Given the description of an element on the screen output the (x, y) to click on. 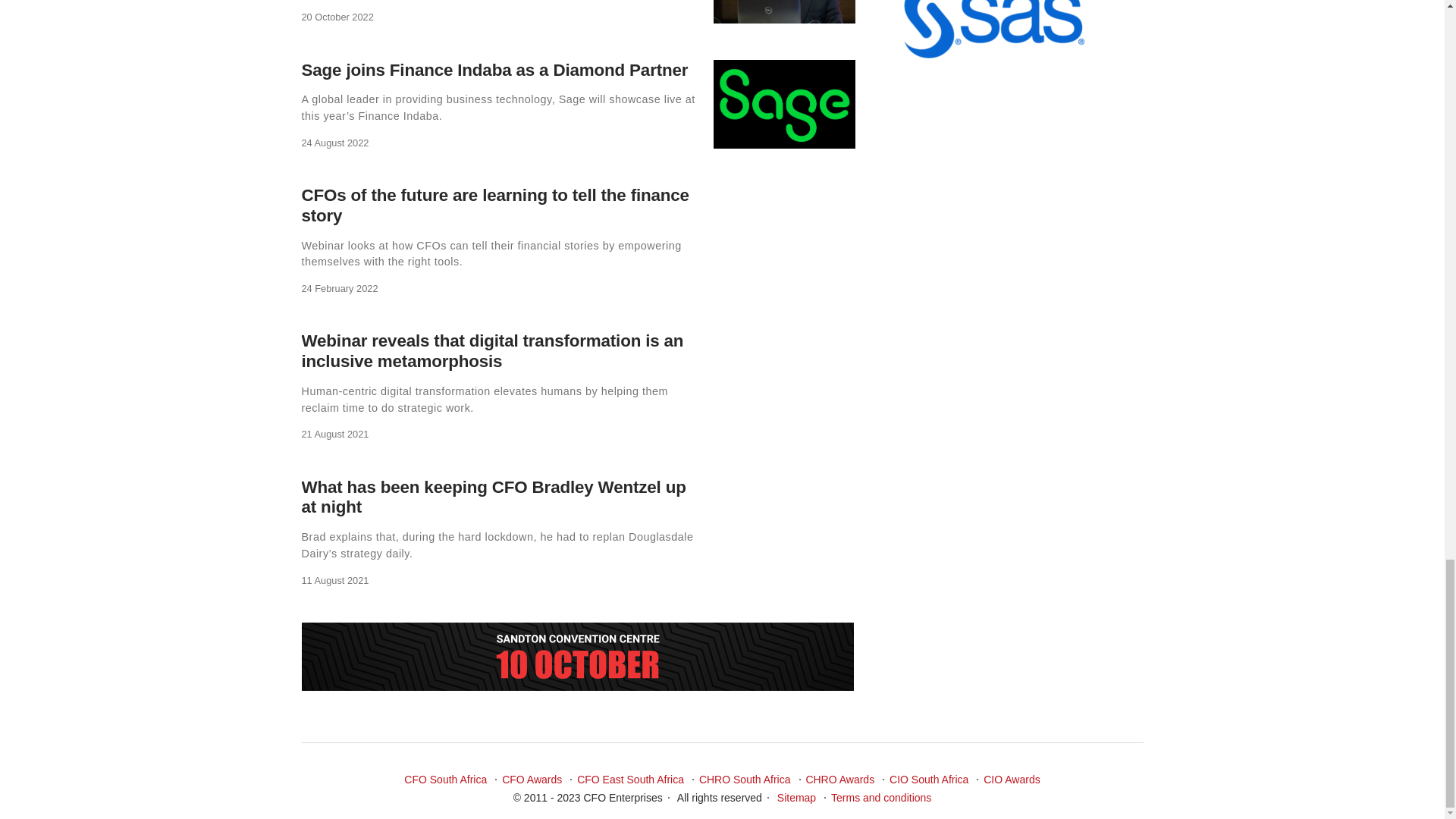
CFOs of the future are learning to tell the finance story (494, 205)
Sage joins Finance Indaba as a Diamond Partner (494, 68)
What has been keeping CFO Bradley Wentzel up at night (493, 496)
